Given the description of an element on the screen output the (x, y) to click on. 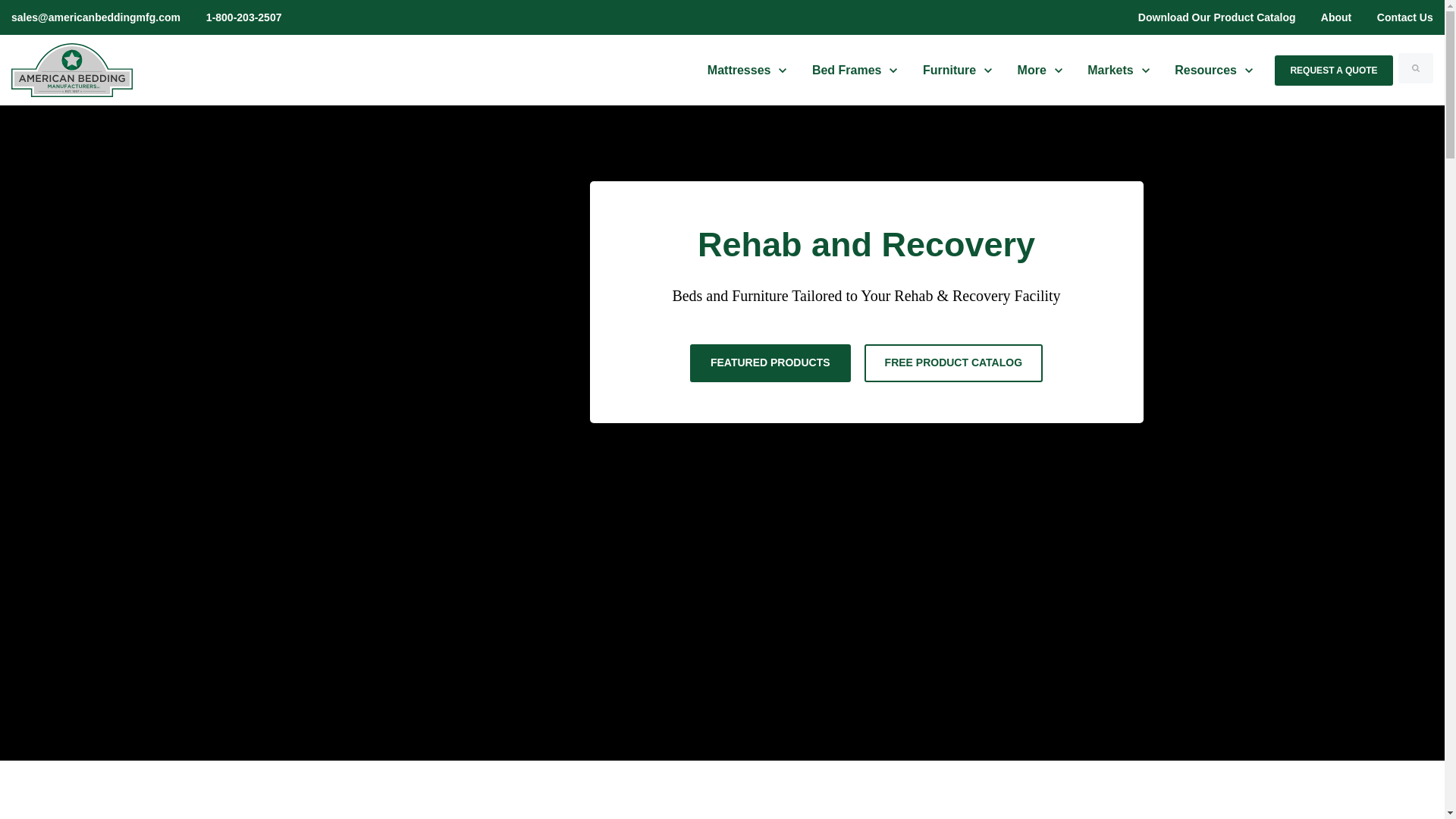
About (1335, 17)
Download Our Product Catalog (1216, 17)
Contact Us (854, 70)
1-800-203-2507 (1398, 17)
